Given the description of an element on the screen output the (x, y) to click on. 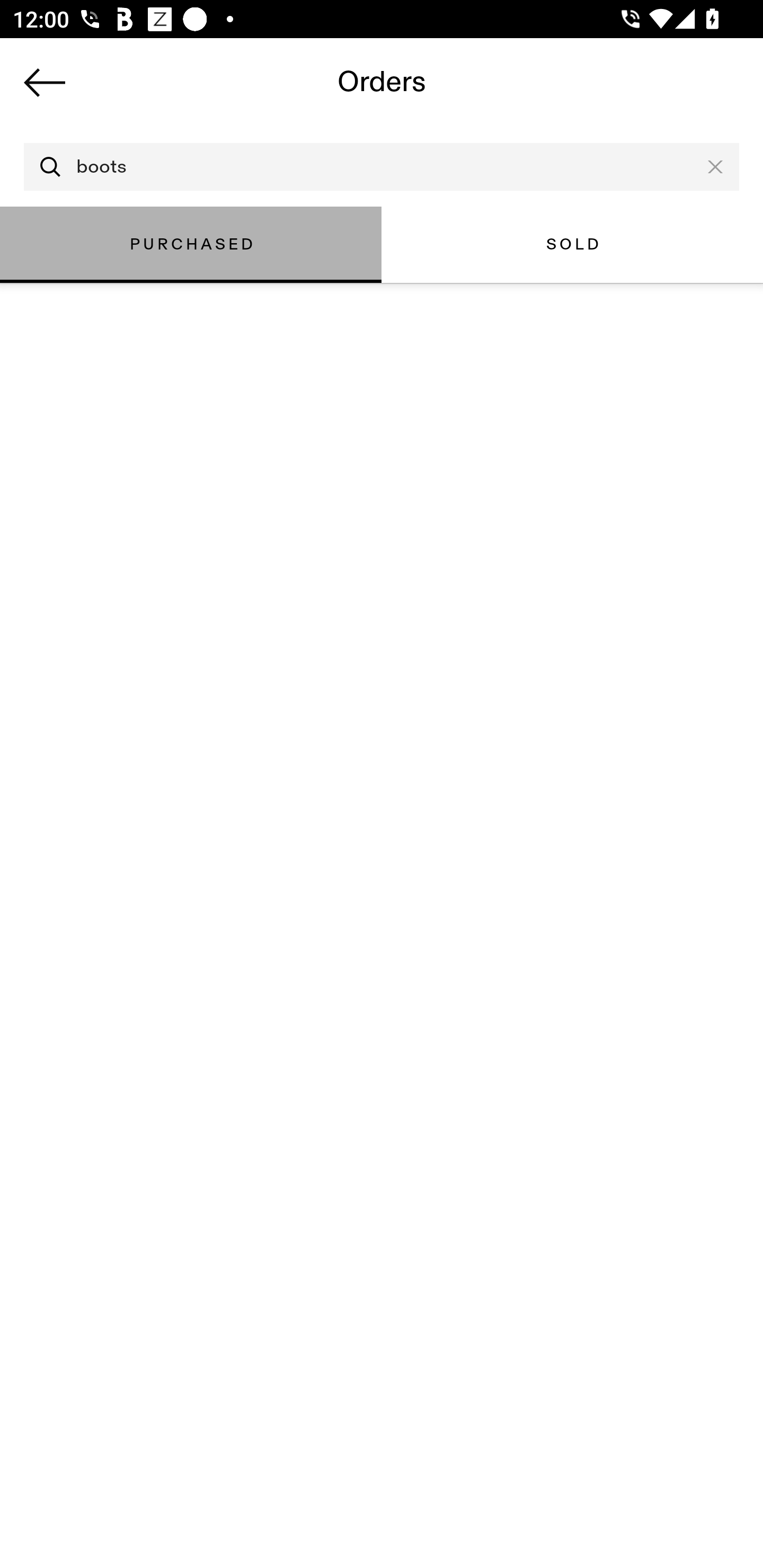
Navigate up (44, 82)
boots (381, 166)
SOLD (572, 244)
